Given the description of an element on the screen output the (x, y) to click on. 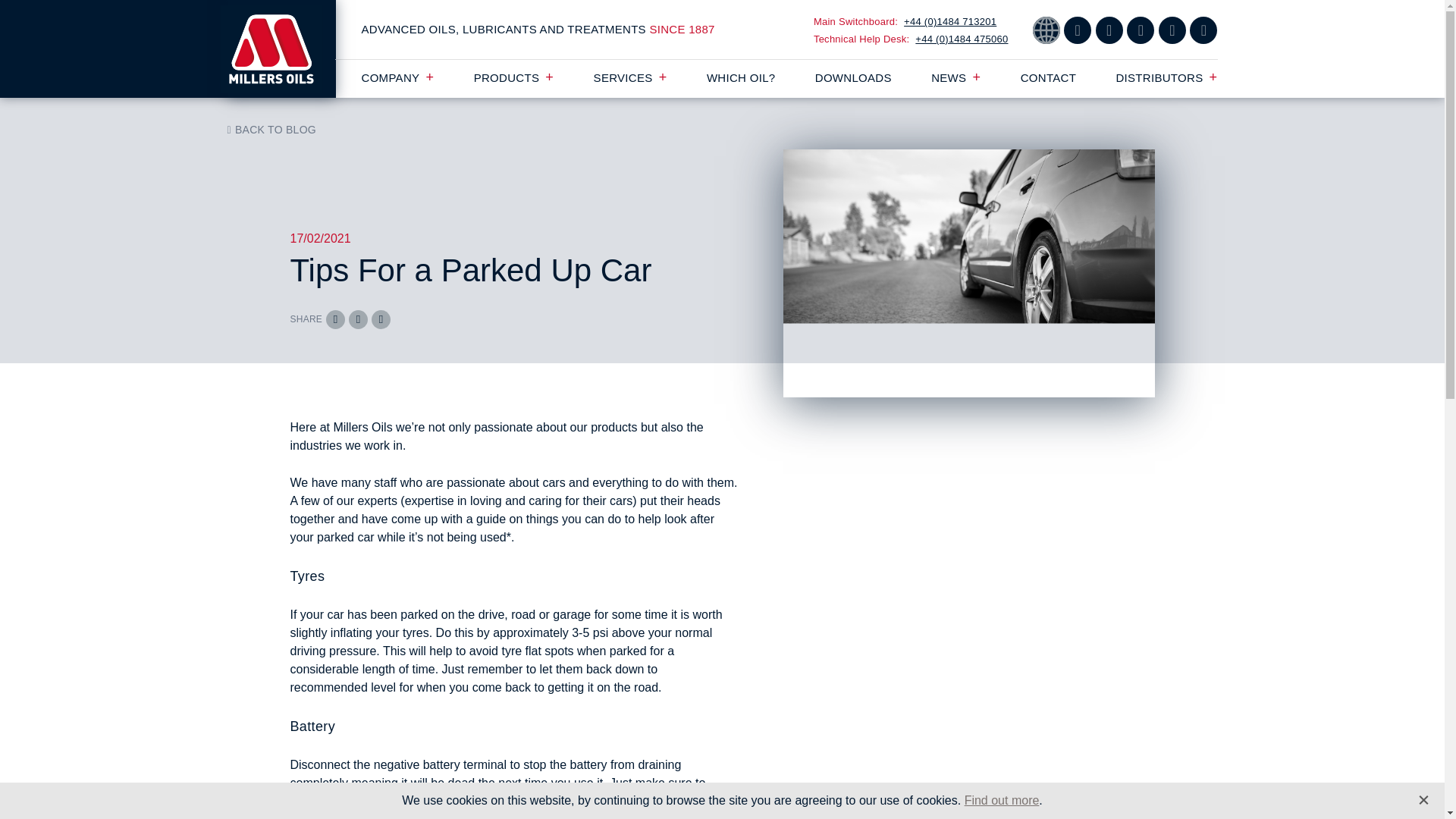
NEWS (955, 77)
Millers Oils (280, 48)
PRODUCTS (514, 77)
SERVICES (630, 77)
WHICH OIL? (741, 77)
DOWNLOADS (853, 77)
COMPANY (397, 77)
